Given the description of an element on the screen output the (x, y) to click on. 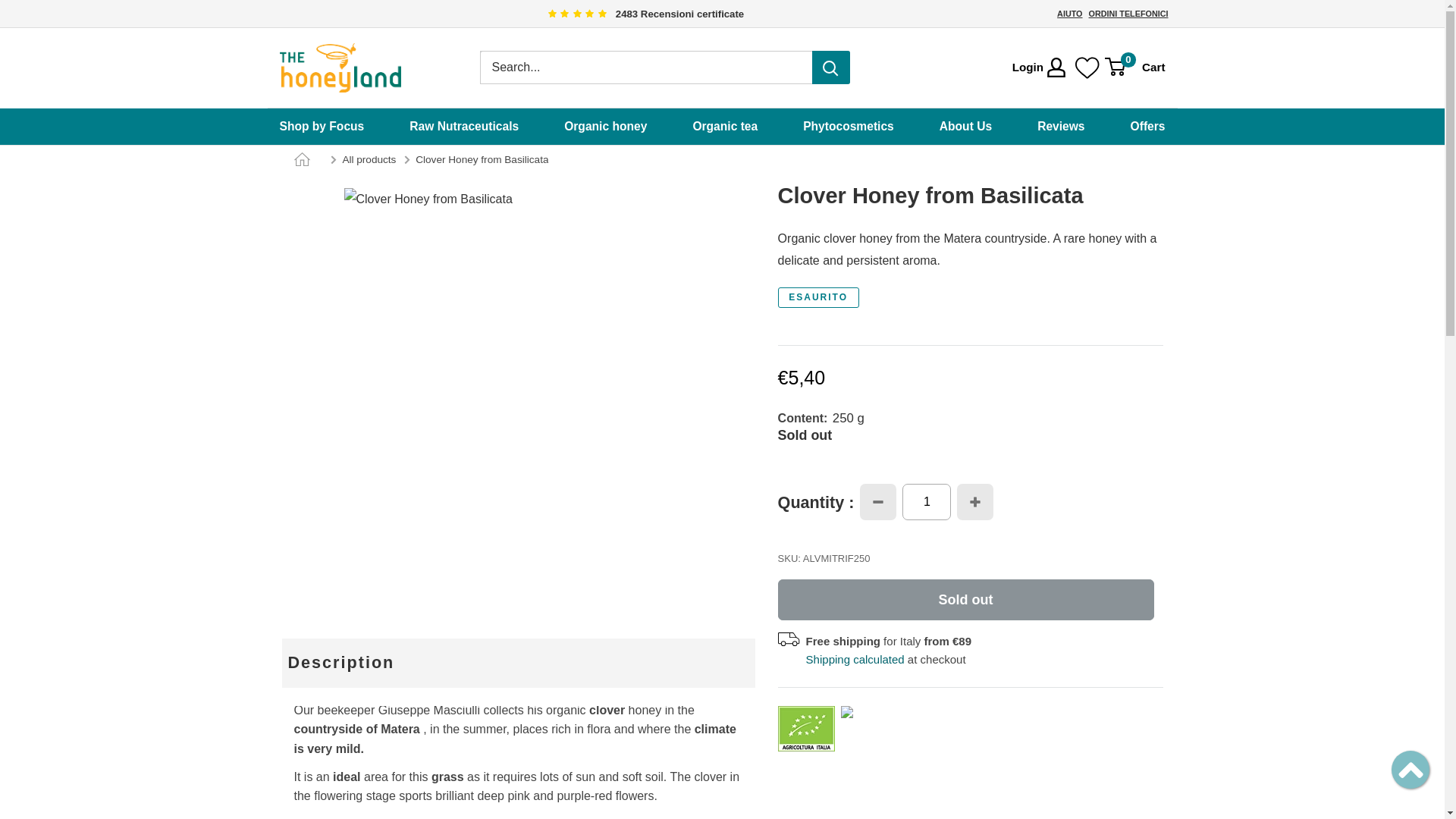
1 (926, 502)
2483 Recensioni certificate (642, 14)
Increase quantity by 1 (974, 502)
ORDINI TELEFONICI (1129, 13)
Torna su (1410, 768)
Decrease quantity by 1 (878, 502)
The Honeyland (339, 67)
AIUTO (1069, 13)
